Given the description of an element on the screen output the (x, y) to click on. 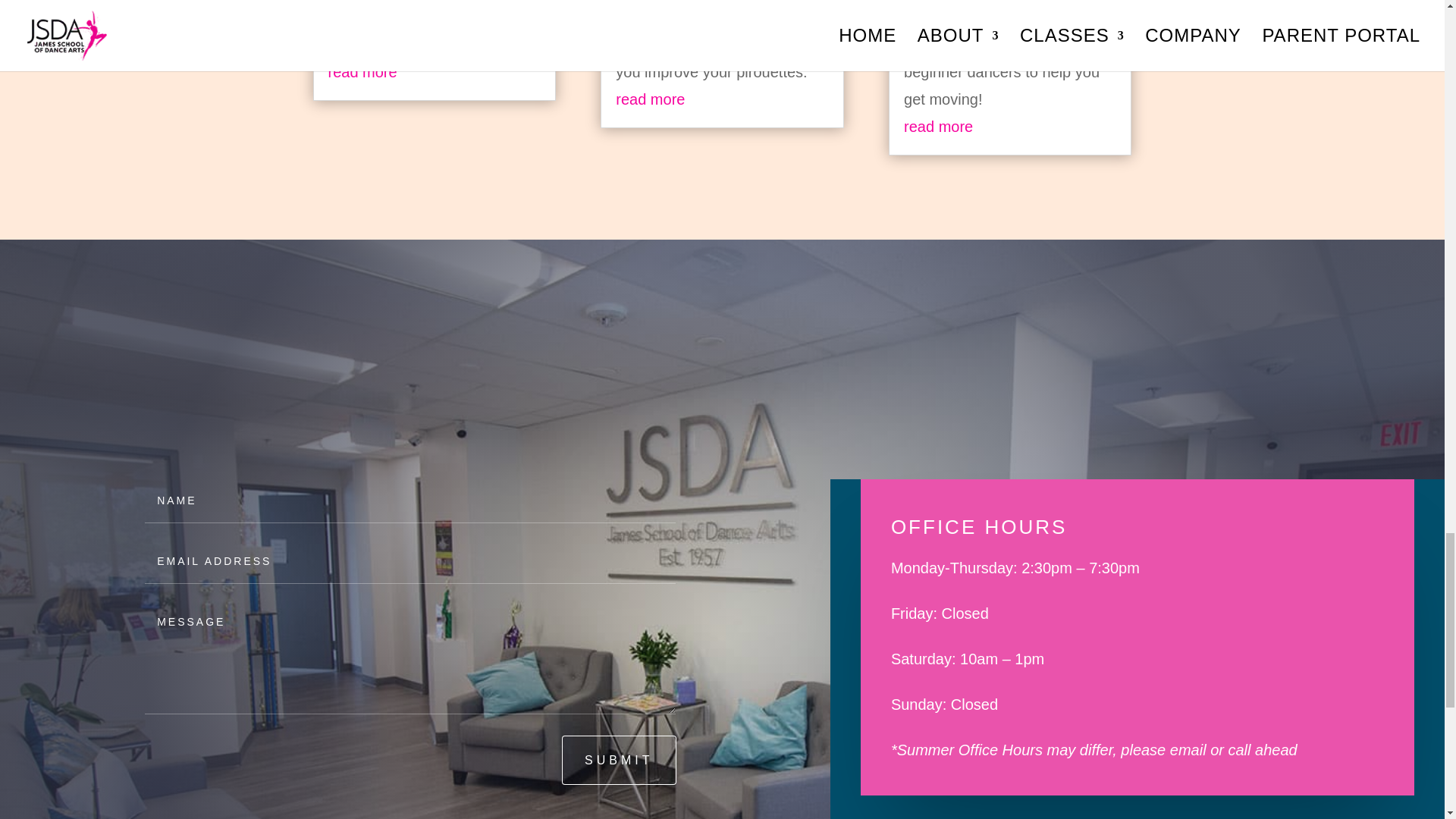
read more (361, 71)
read more (649, 98)
